Given the description of an element on the screen output the (x, y) to click on. 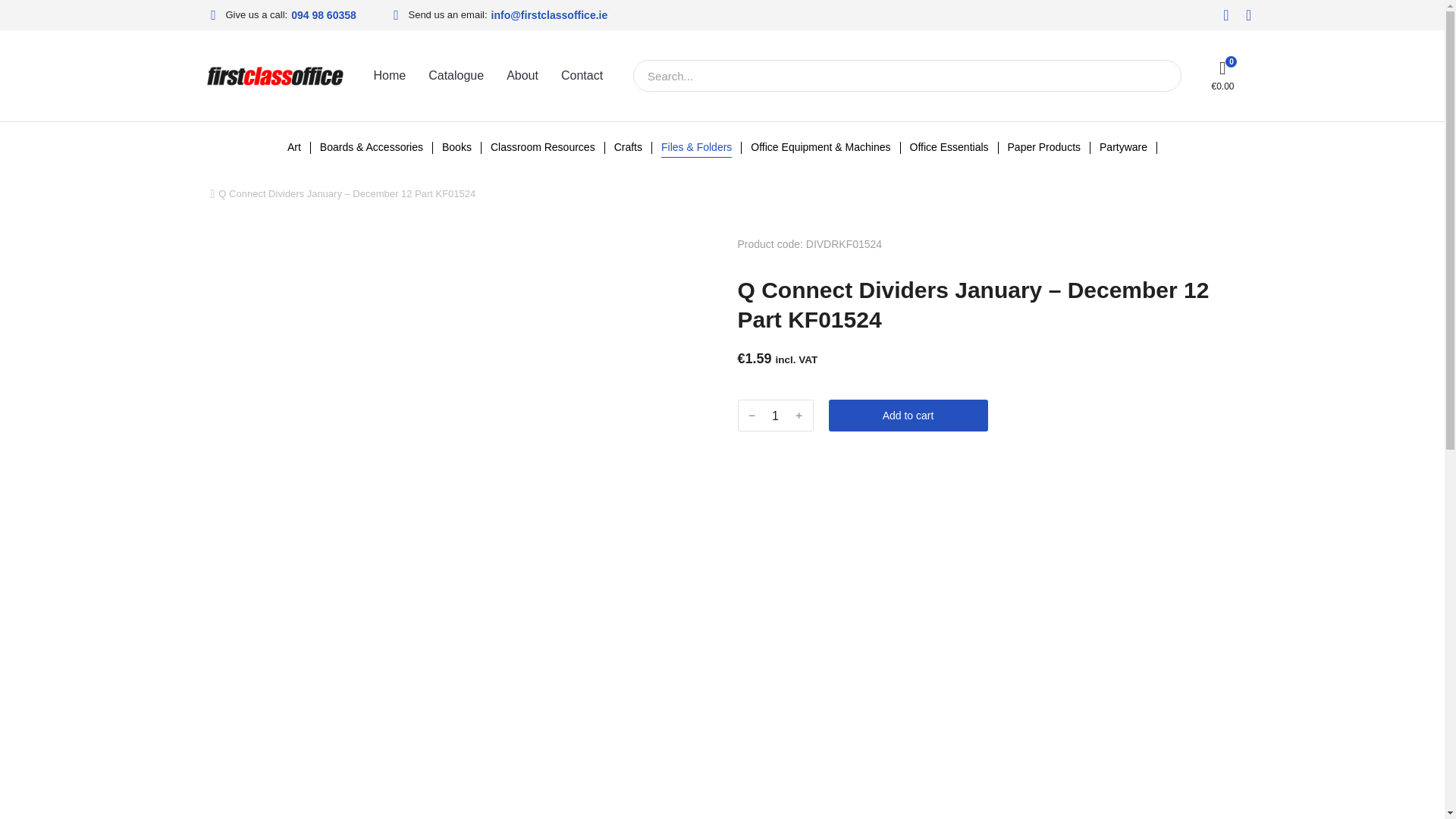
1 (774, 415)
Send us an email: (437, 15)
Home (389, 75)
Give us a call: (246, 15)
Contact (581, 75)
Search (1163, 75)
Catalogue (455, 75)
Search (891, 75)
094 98 60358 (323, 15)
About (522, 75)
